Given the description of an element on the screen output the (x, y) to click on. 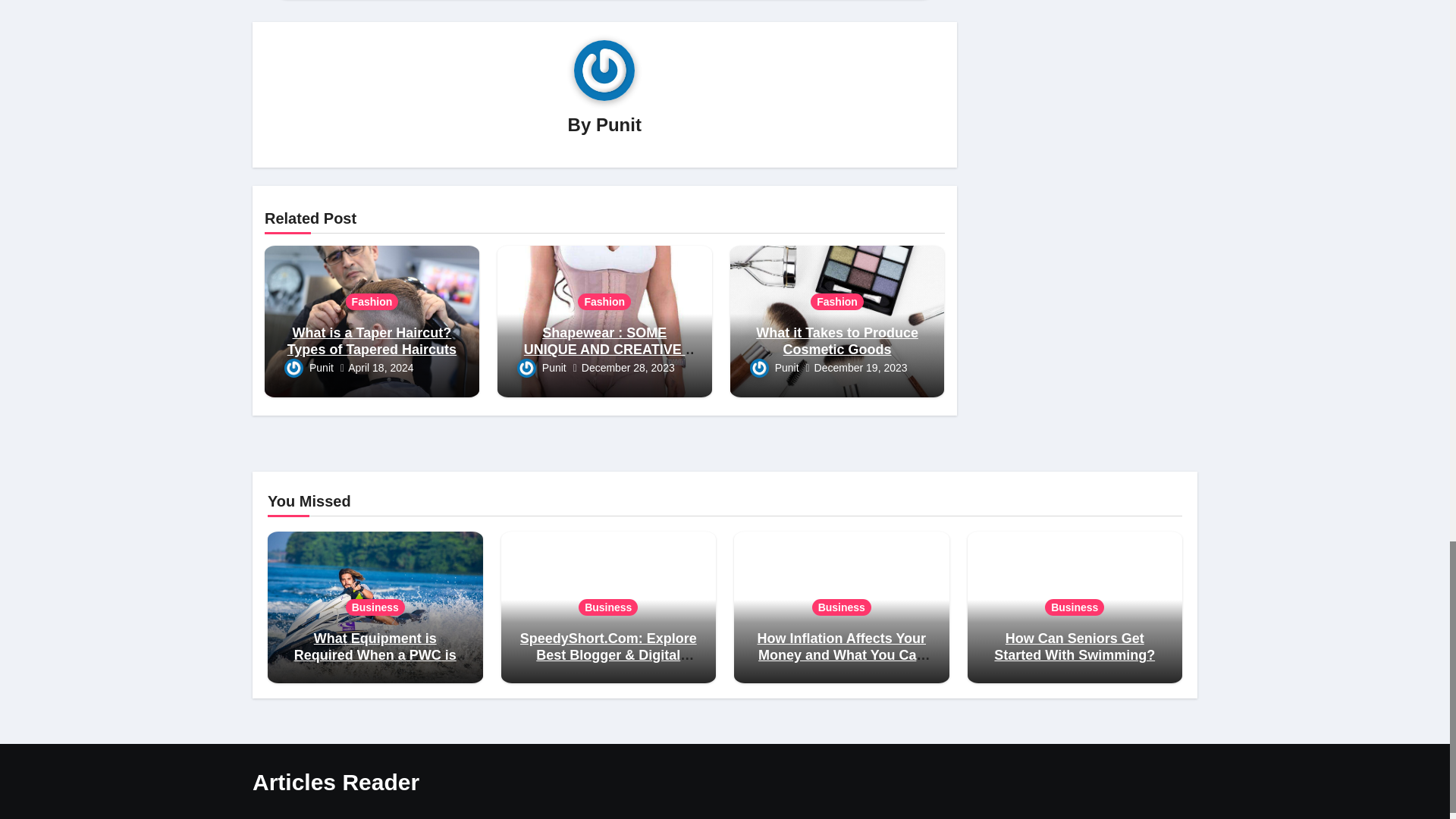
Permalink to: What it Takes to Produce Cosmetic Goods (836, 341)
Permalink to: How Can Seniors Get Started With Swimming? (1074, 646)
Punit (618, 124)
